Given the description of an element on the screen output the (x, y) to click on. 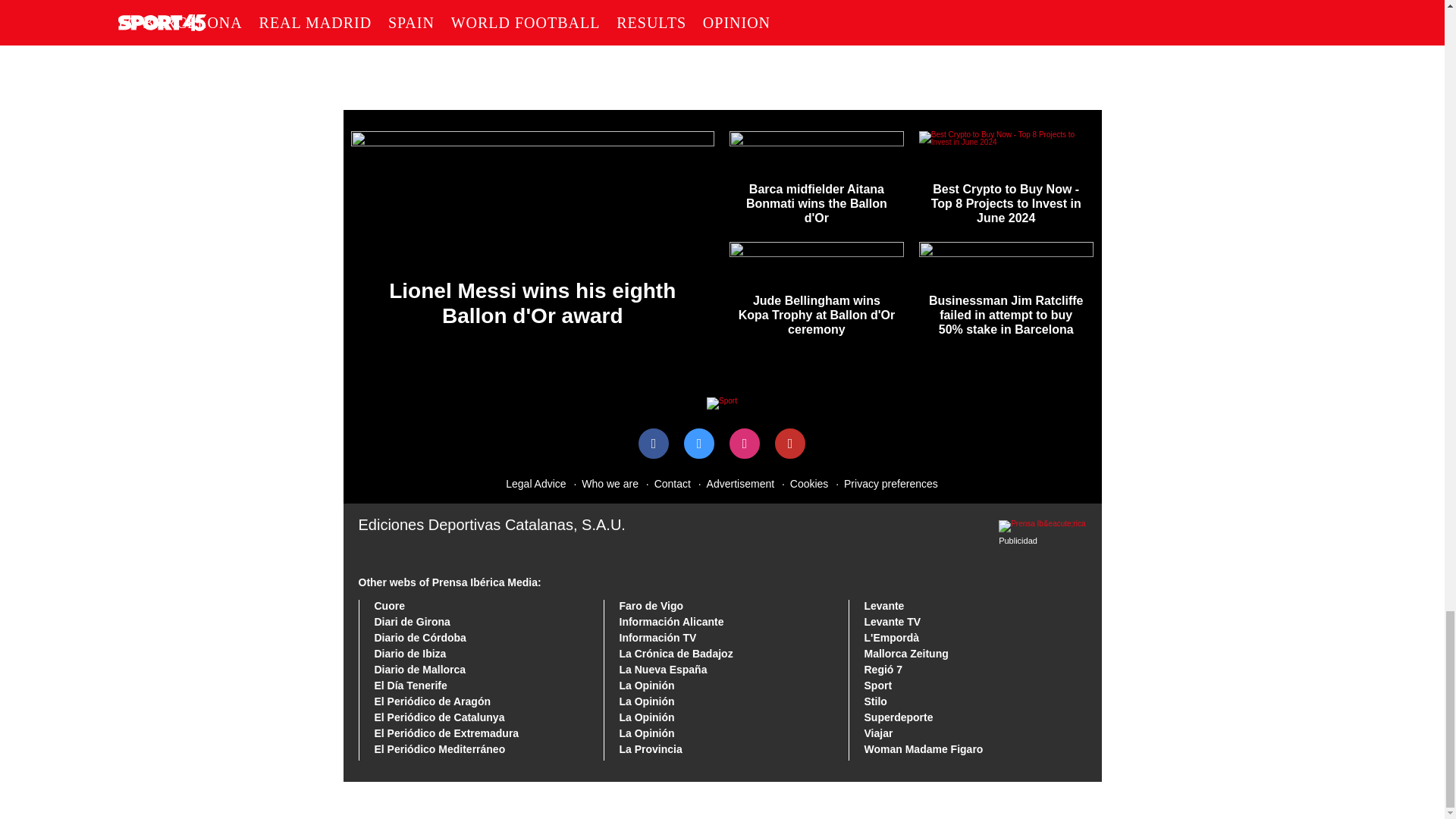
Contact (665, 482)
Legal Advice (535, 482)
Advertisement (733, 482)
Who we are (603, 482)
